Given the description of an element on the screen output the (x, y) to click on. 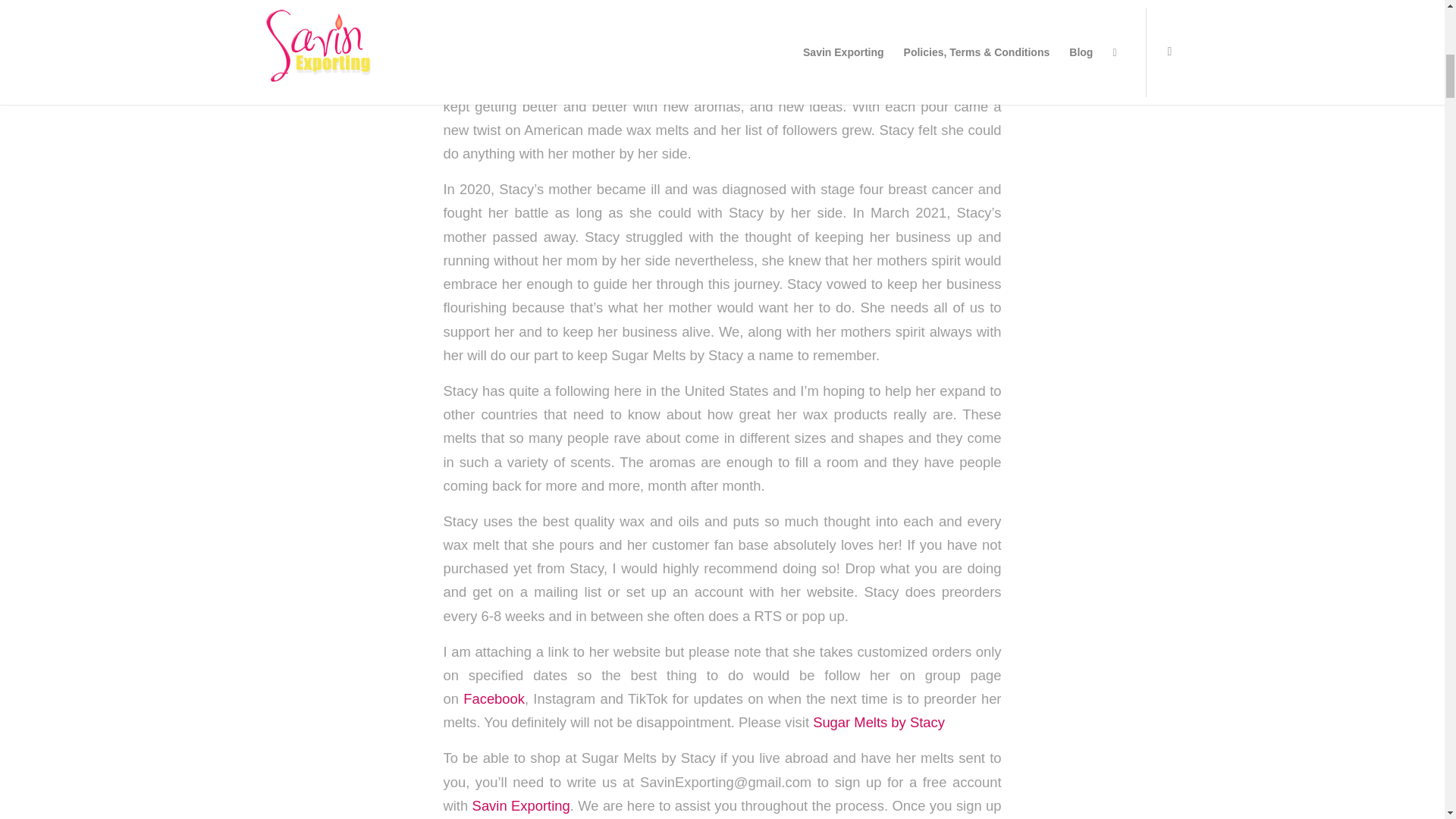
Sugar Melts by Stacy (878, 722)
Savin Exporting (520, 805)
Facebook (493, 698)
